Given the description of an element on the screen output the (x, y) to click on. 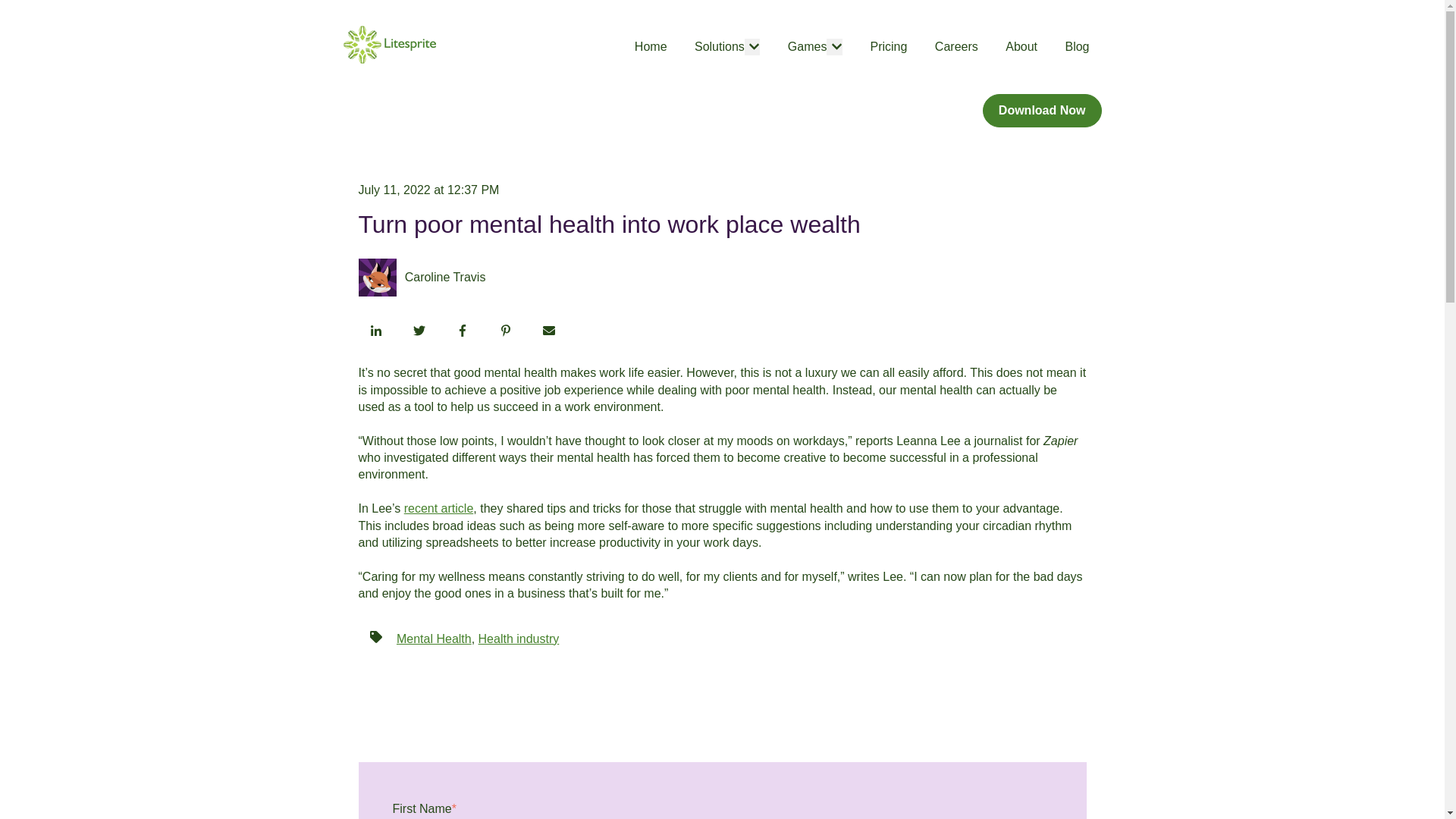
Blog (1076, 46)
Pricing (888, 46)
Download Now (1042, 110)
Games (807, 46)
Careers (956, 46)
Health industry (519, 638)
recent article (439, 508)
About (1021, 46)
Caroline Travis (445, 277)
Home (650, 46)
